Given the description of an element on the screen output the (x, y) to click on. 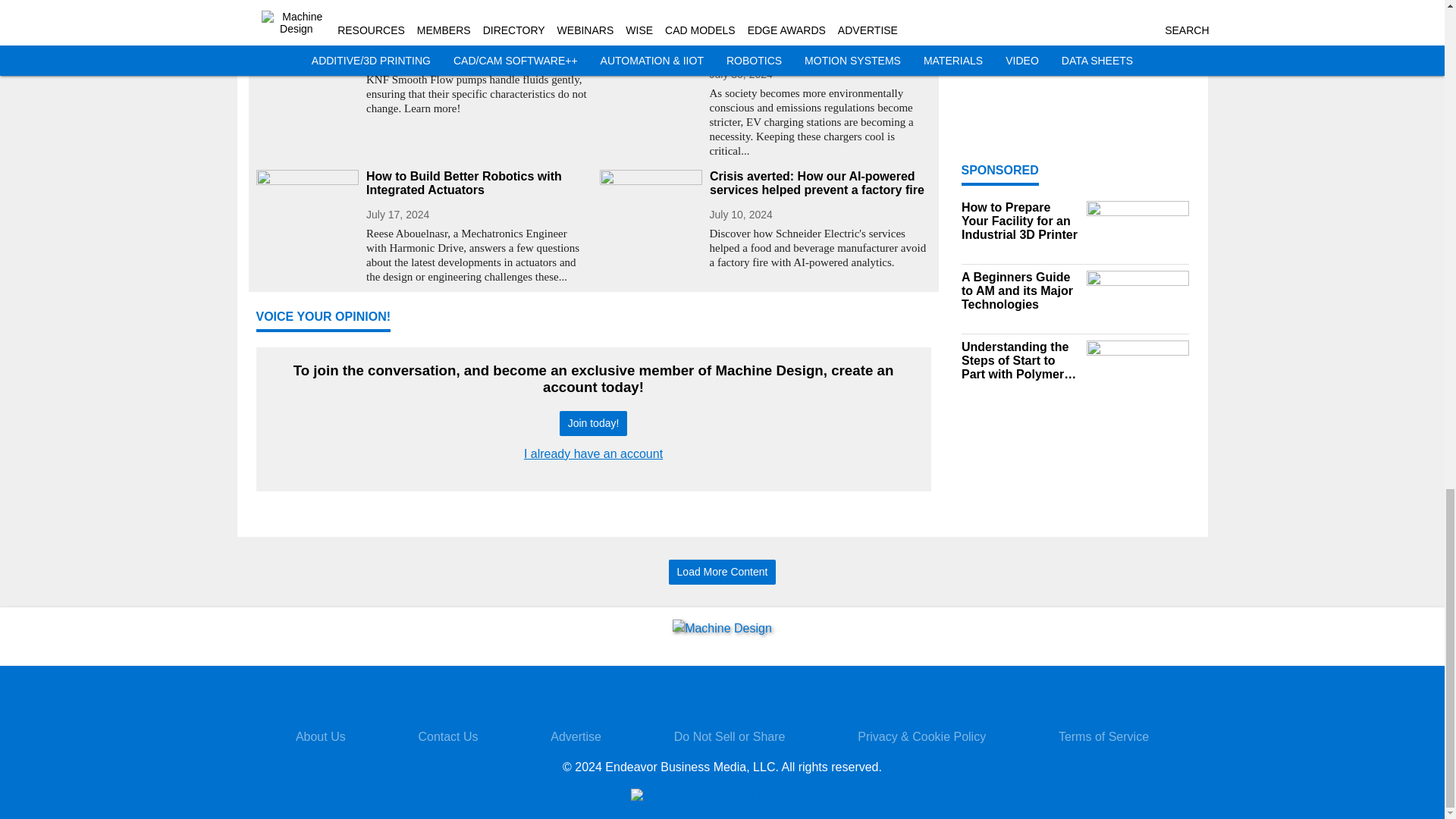
Pump Technology Keeps EV Charging Stations Cool (820, 42)
How to Build Better Robotics with Integrated Actuators (476, 183)
I already have an account (593, 453)
Smooth Flow Pumps at a Closer Look (476, 36)
Join today! (593, 423)
